Given the description of an element on the screen output the (x, y) to click on. 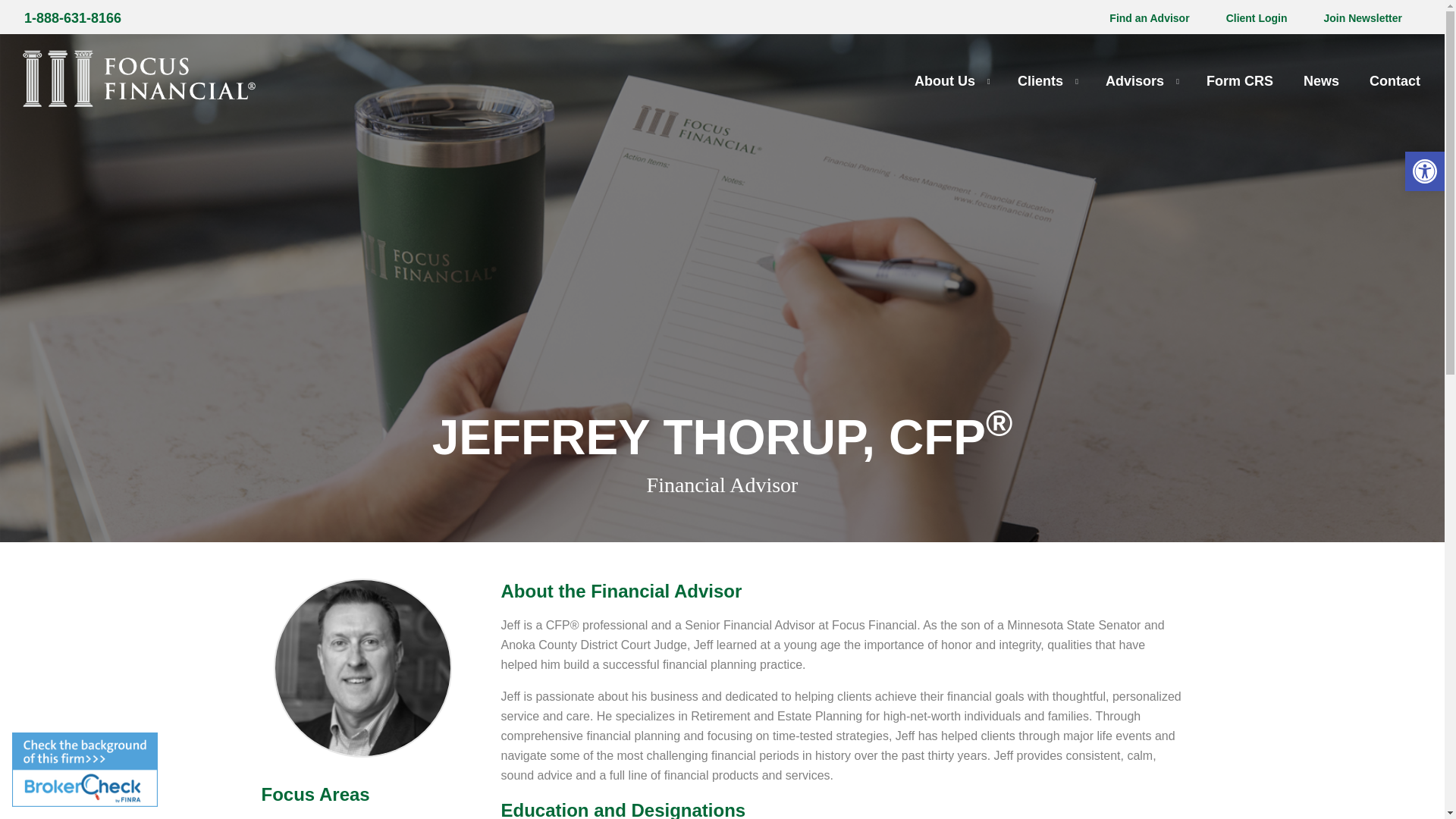
Join Newsletter (1362, 18)
Accessibility Tools (1424, 170)
Find an Advisor (1149, 18)
Client Login (1256, 18)
1-888-631-8166 (72, 17)
